Given the description of an element on the screen output the (x, y) to click on. 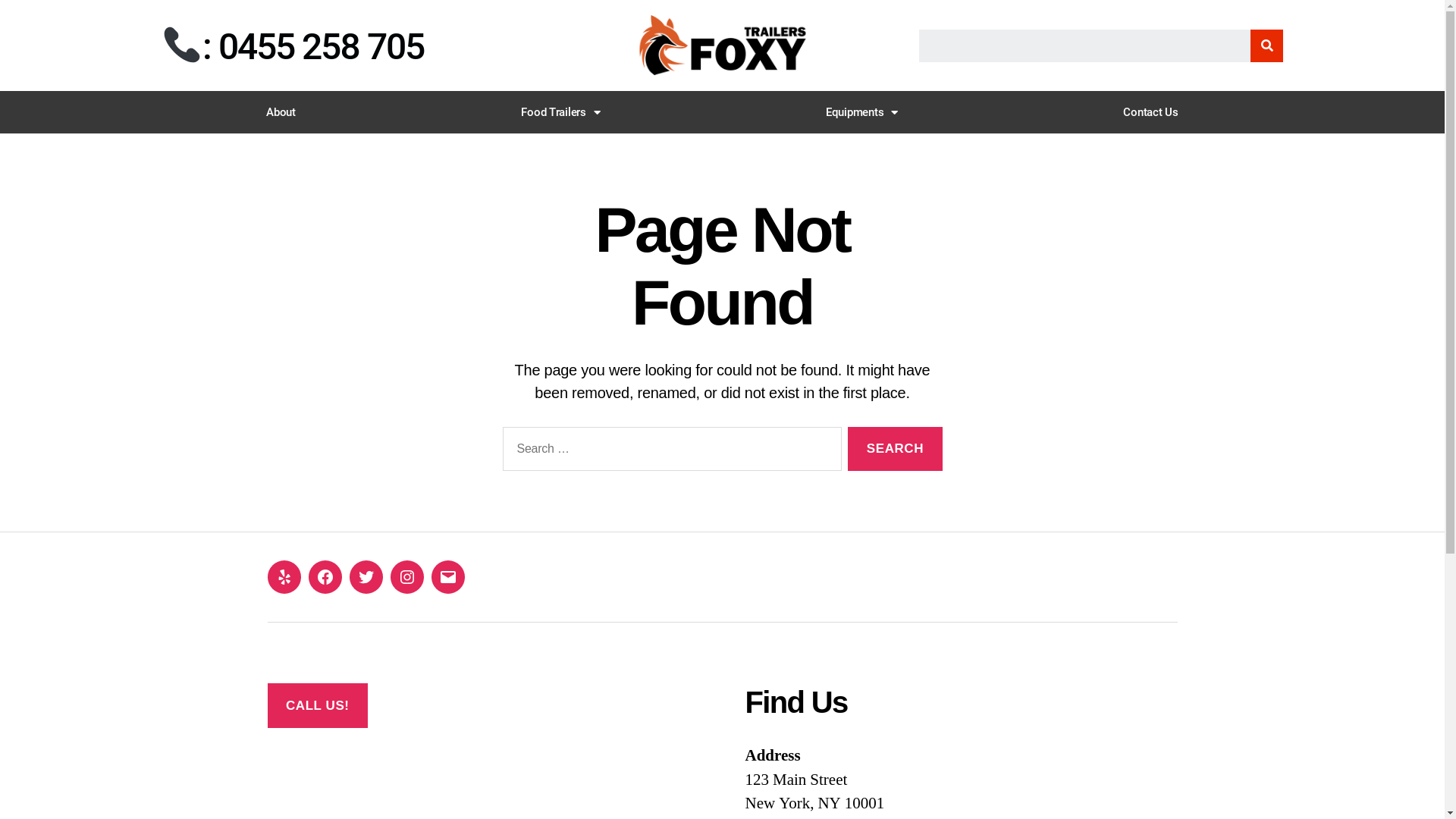
About Element type: text (280, 112)
: 0455 258 705 Element type: text (291, 46)
Search Element type: hover (1084, 45)
Search Element type: text (894, 448)
Equipments Element type: text (861, 112)
CALL US! Element type: text (316, 705)
Food Trailers Element type: text (560, 112)
Search Element type: hover (1266, 45)
Contact Us Element type: text (1150, 112)
